Given the description of an element on the screen output the (x, y) to click on. 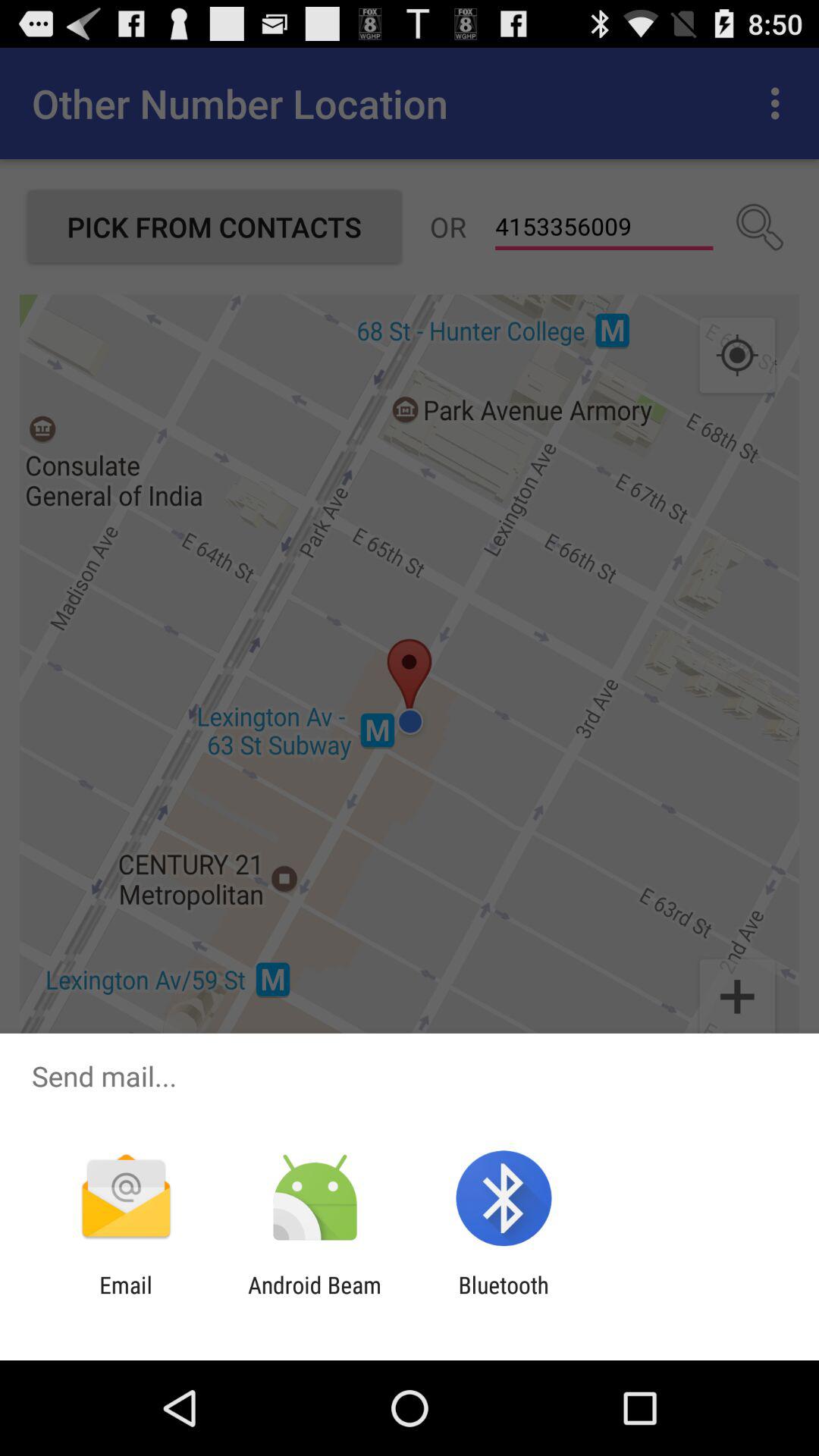
select the email item (125, 1298)
